Given the description of an element on the screen output the (x, y) to click on. 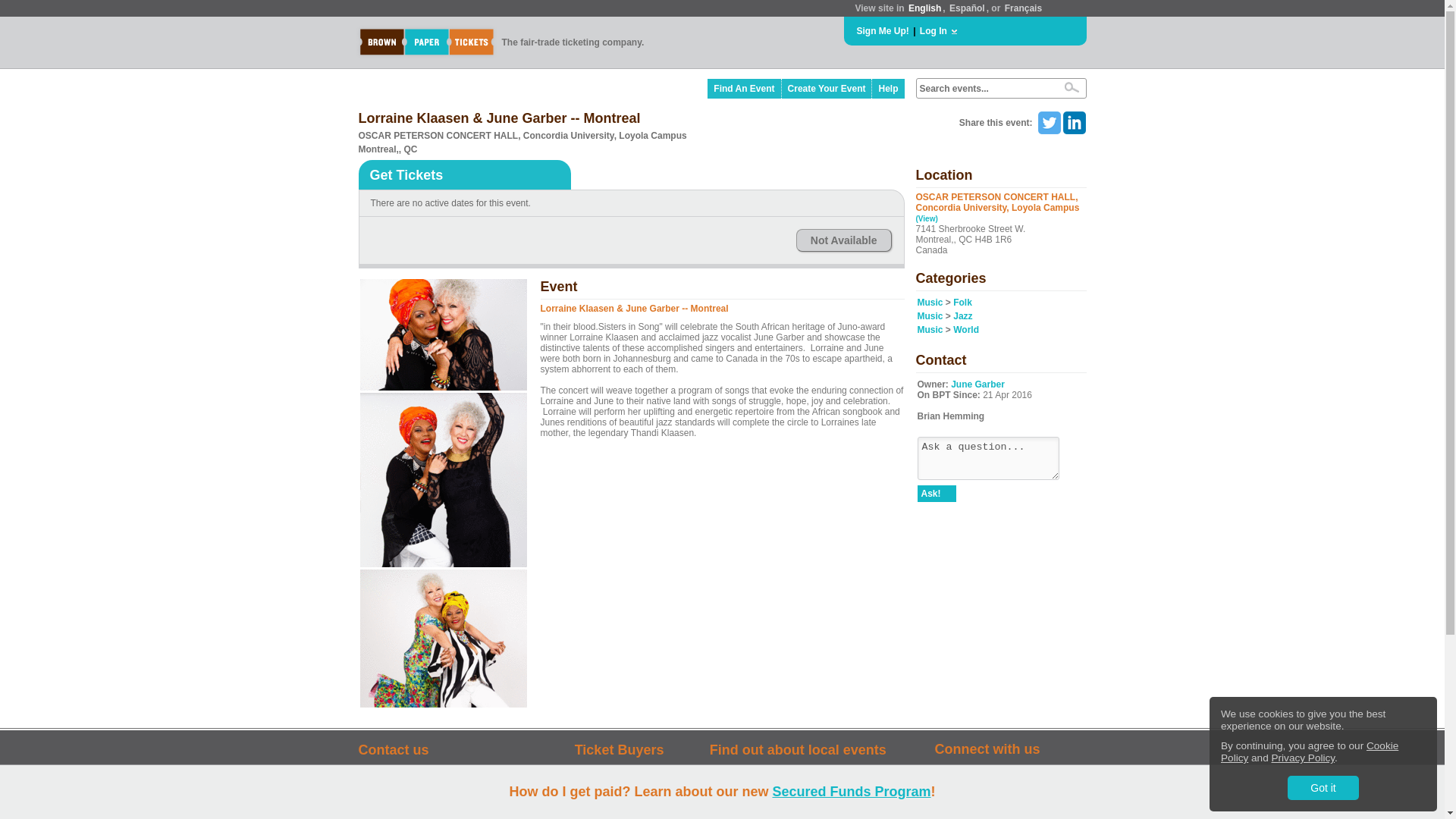
Submit to Twitter! (1048, 122)
English (924, 8)
Search events... (984, 88)
Search Events (1070, 86)
World (965, 329)
Secured Funds Program (850, 791)
June Garber (977, 384)
Track Your Order (636, 781)
Music (930, 302)
Privacy Policy (1303, 757)
